Given the description of an element on the screen output the (x, y) to click on. 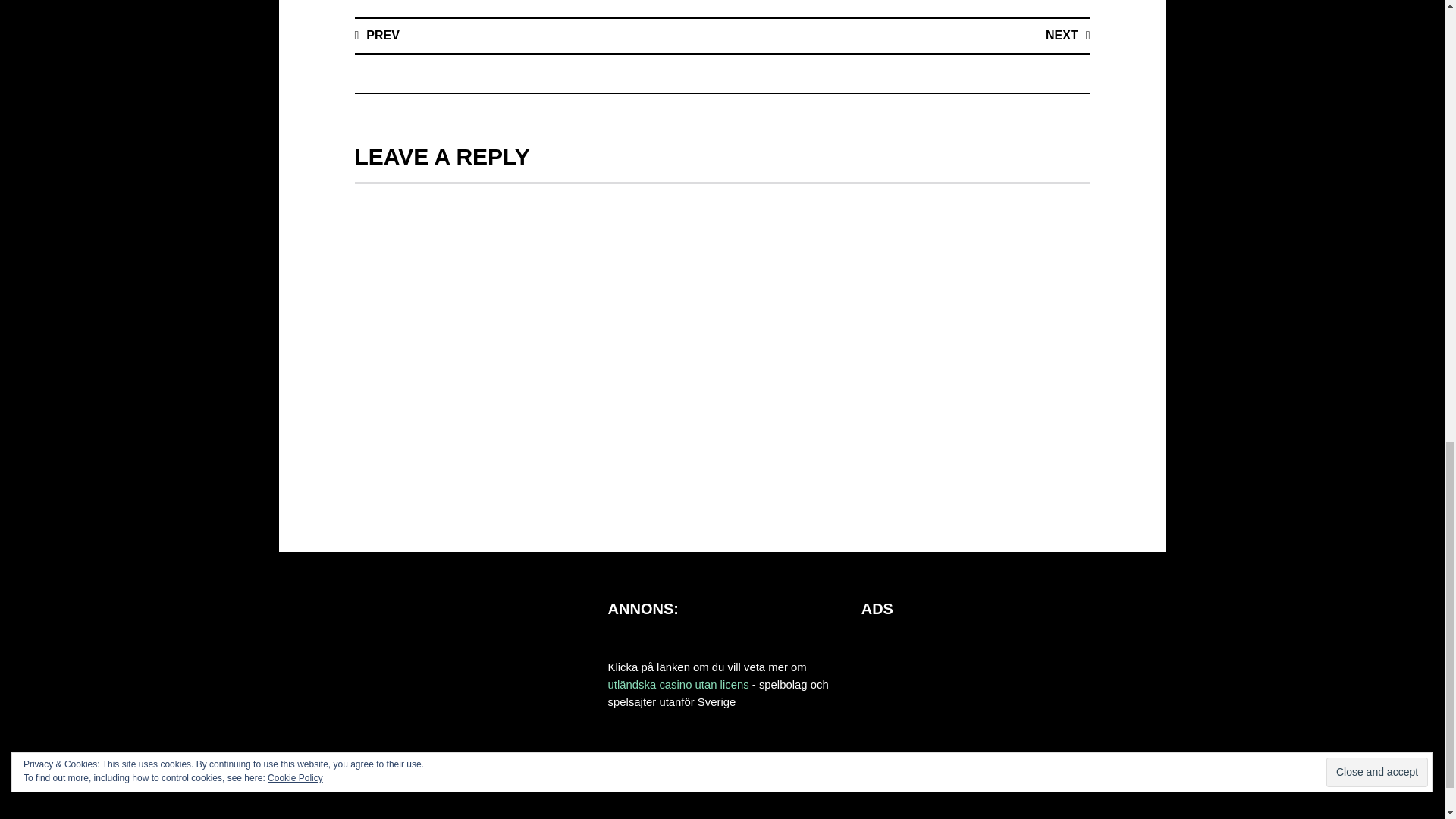
PREV (376, 34)
NEXT (1067, 34)
